Given the description of an element on the screen output the (x, y) to click on. 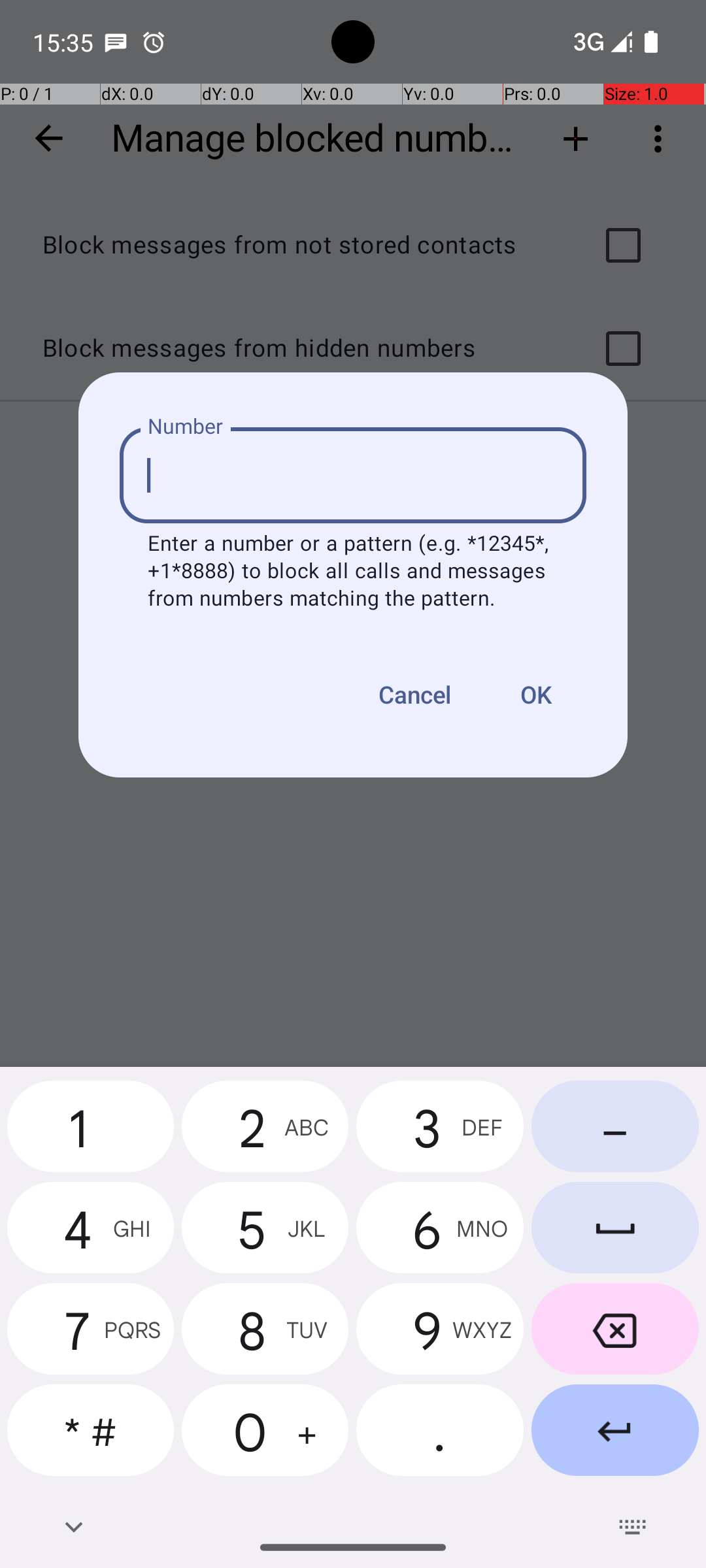
Number Element type: android.widget.TextView (185, 427)
Enter a number or a pattern (e.g. *12345*, +1*8888) to block all calls and messages from numbers matching the pattern. Element type: android.widget.TextView (352, 571)
